Given the description of an element on the screen output the (x, y) to click on. 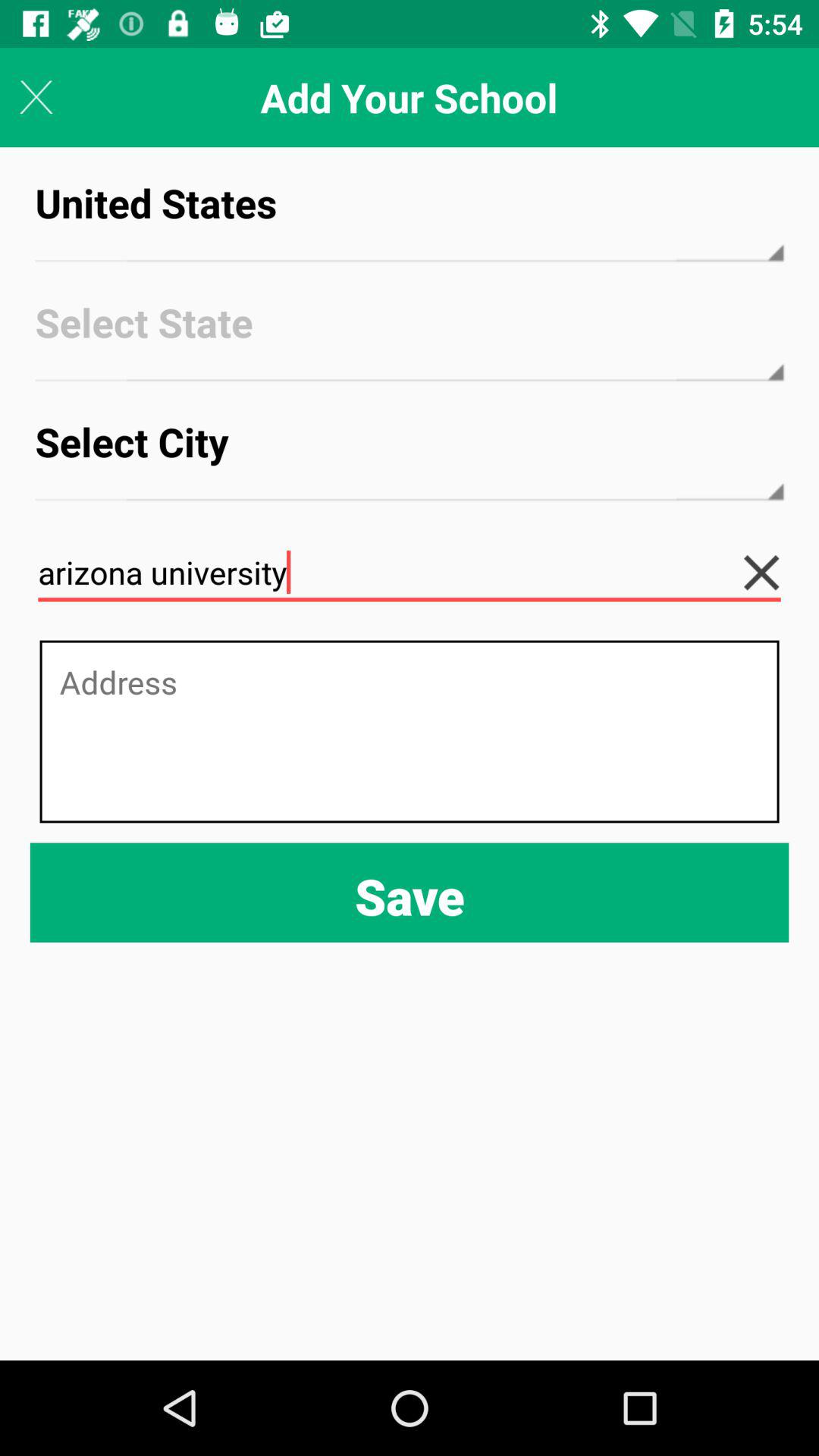
scroll until the save item (409, 892)
